Given the description of an element on the screen output the (x, y) to click on. 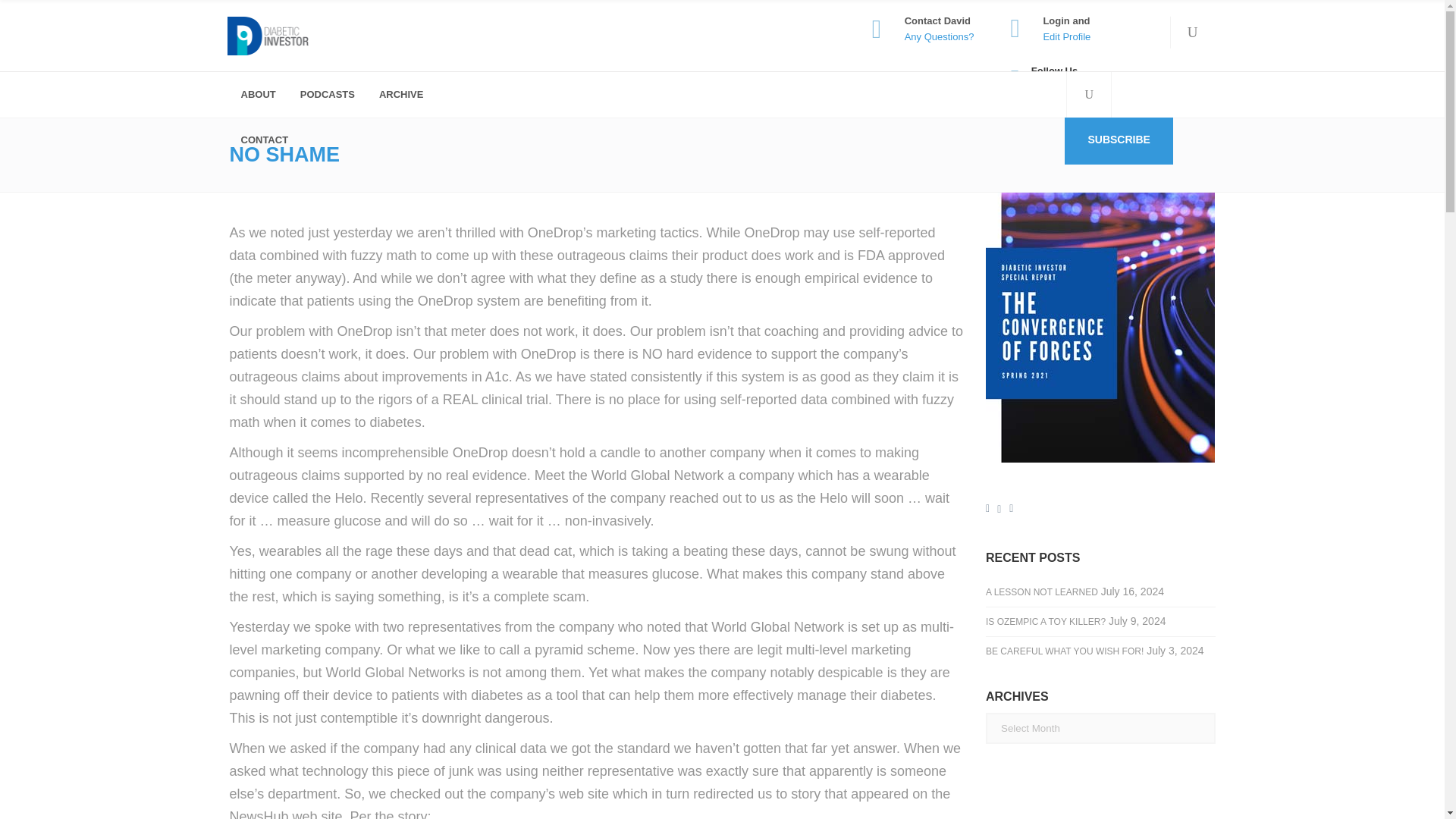
Search (1165, 90)
PODCASTS (325, 94)
Any Questions? (939, 36)
Contact David (937, 20)
Login and (1065, 20)
SUBSCRIBE (1118, 140)
ARCHIVE (399, 94)
CONTACT (263, 139)
ABOUT (256, 94)
Search (1061, 142)
Edit Profile (1066, 36)
